Given the description of an element on the screen output the (x, y) to click on. 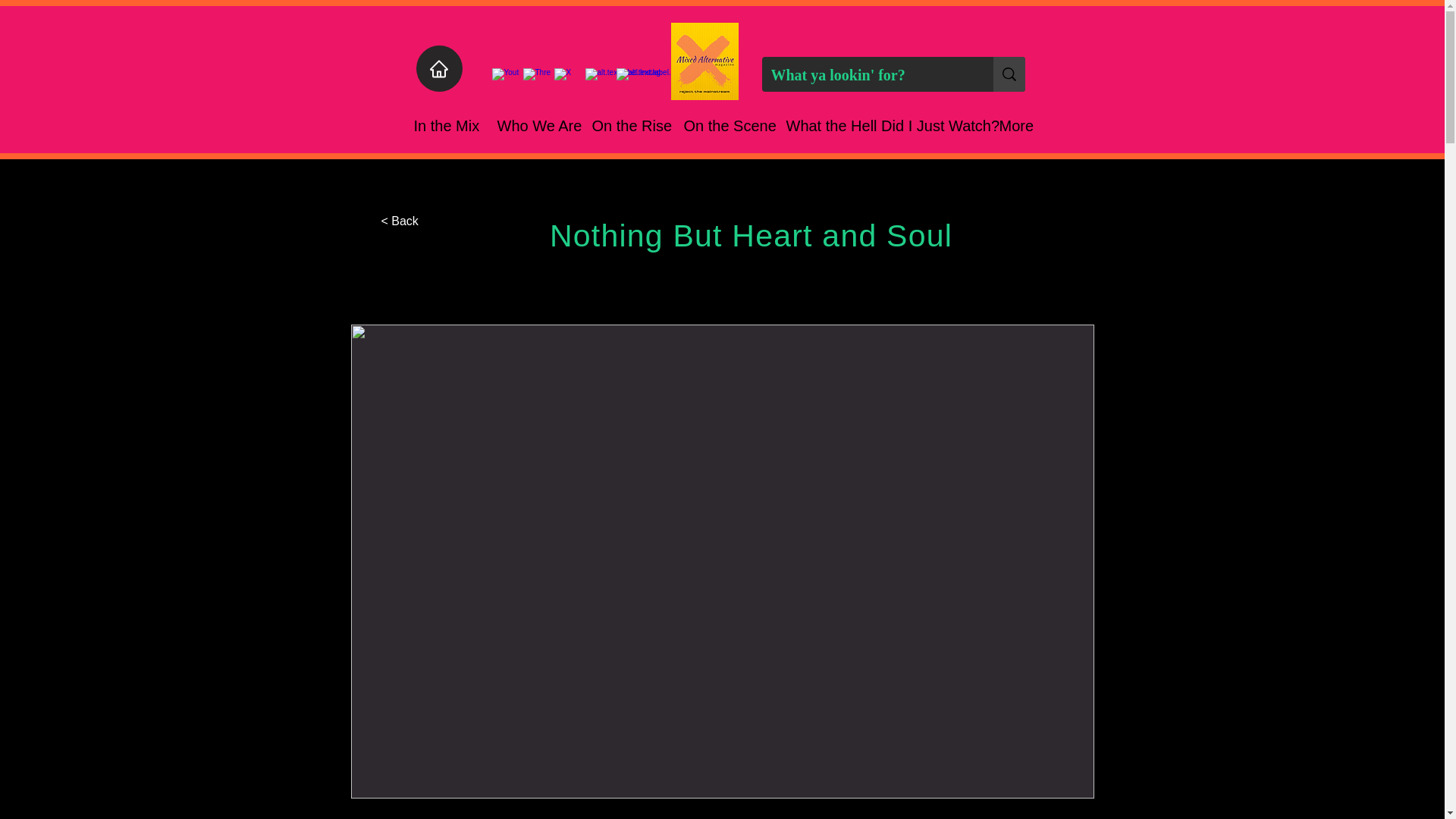
In the Mix (442, 125)
On the Rise (626, 125)
What the Hell Did I Just Watch? (881, 125)
Who We Are (531, 125)
On the Scene (722, 125)
